Given the description of an element on the screen output the (x, y) to click on. 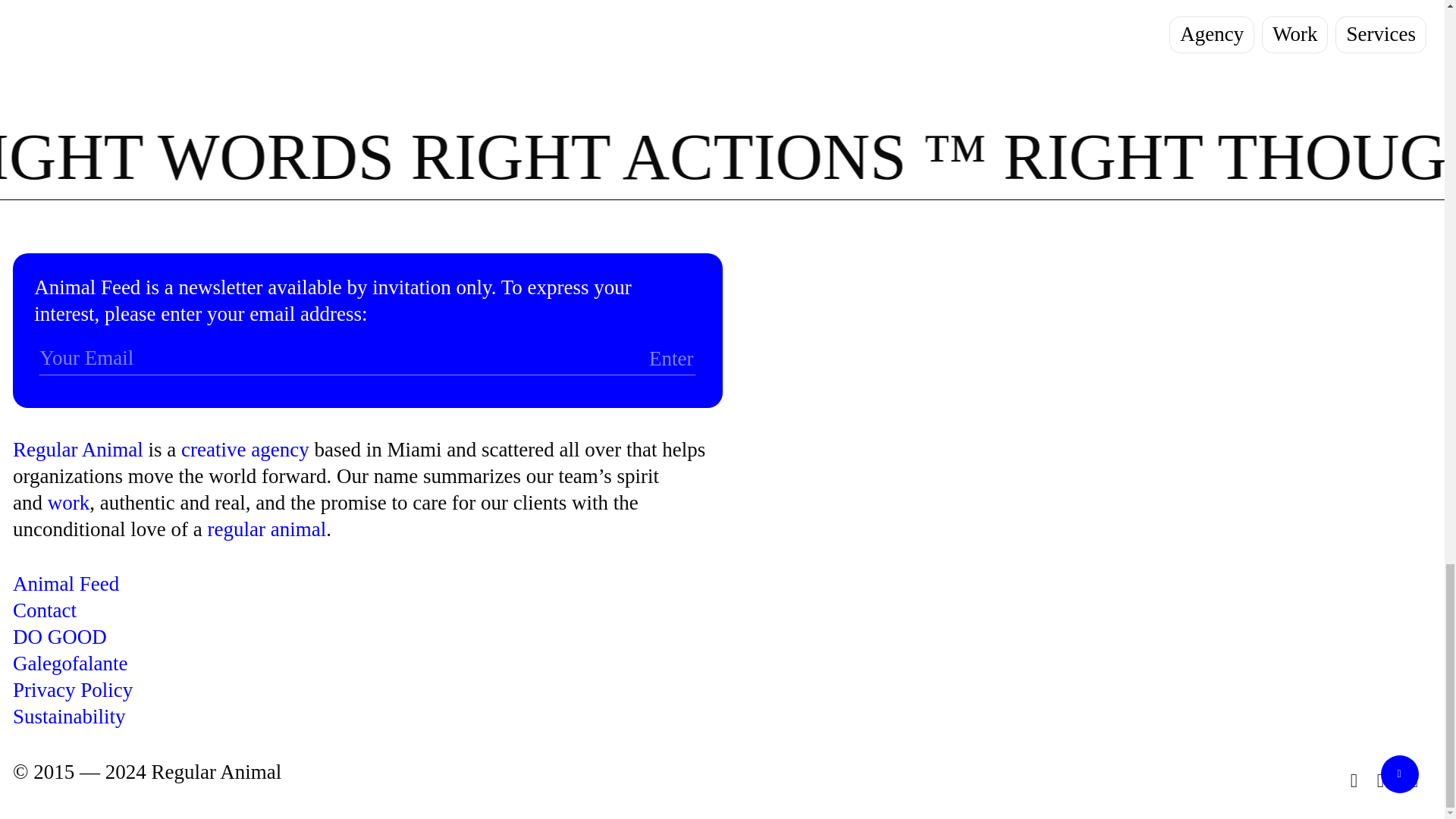
Enter (617, 360)
Regular Animal (77, 449)
creative agency (244, 449)
